Given the description of an element on the screen output the (x, y) to click on. 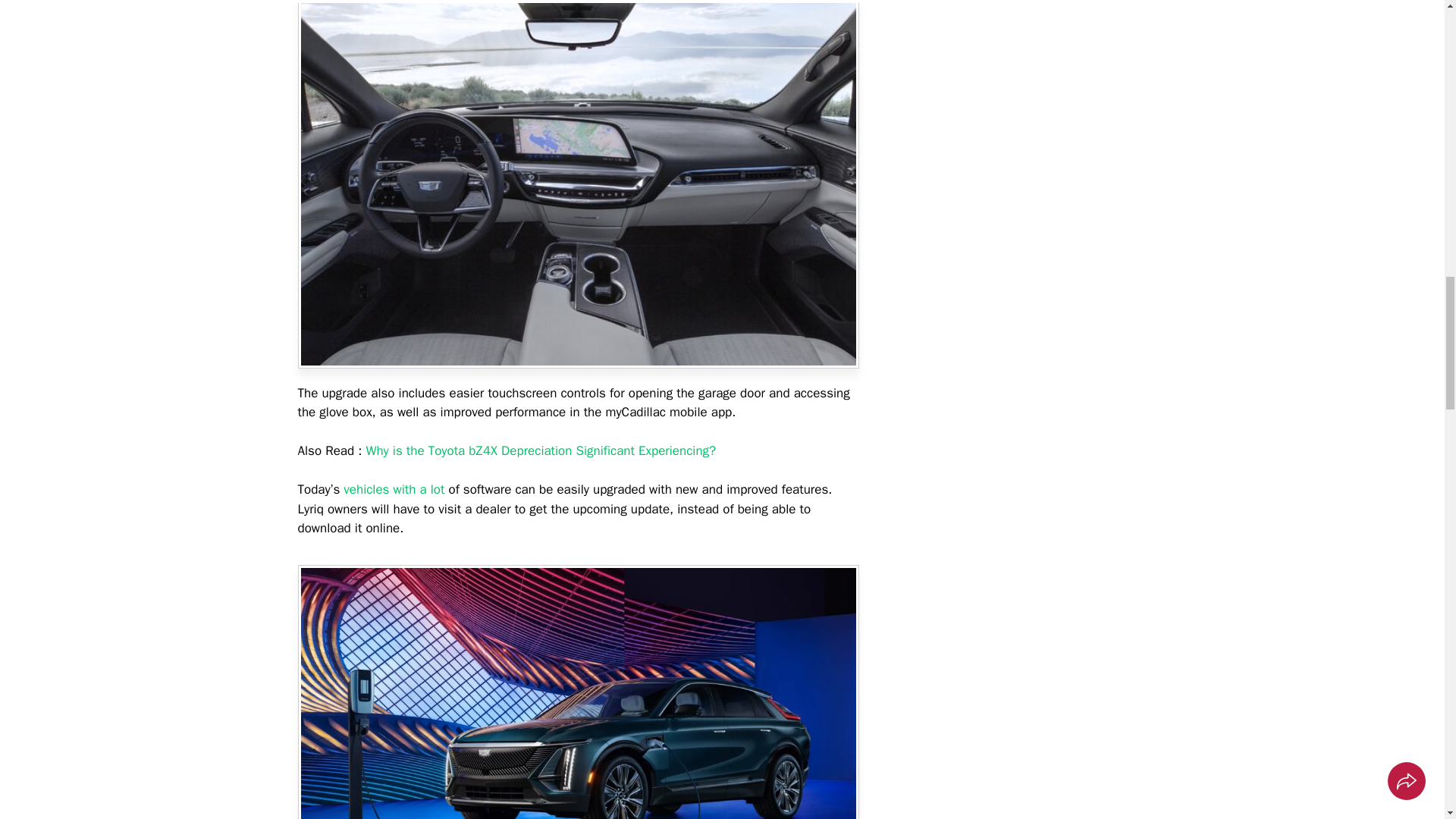
vehicles with a lot (391, 489)
